Given the description of an element on the screen output the (x, y) to click on. 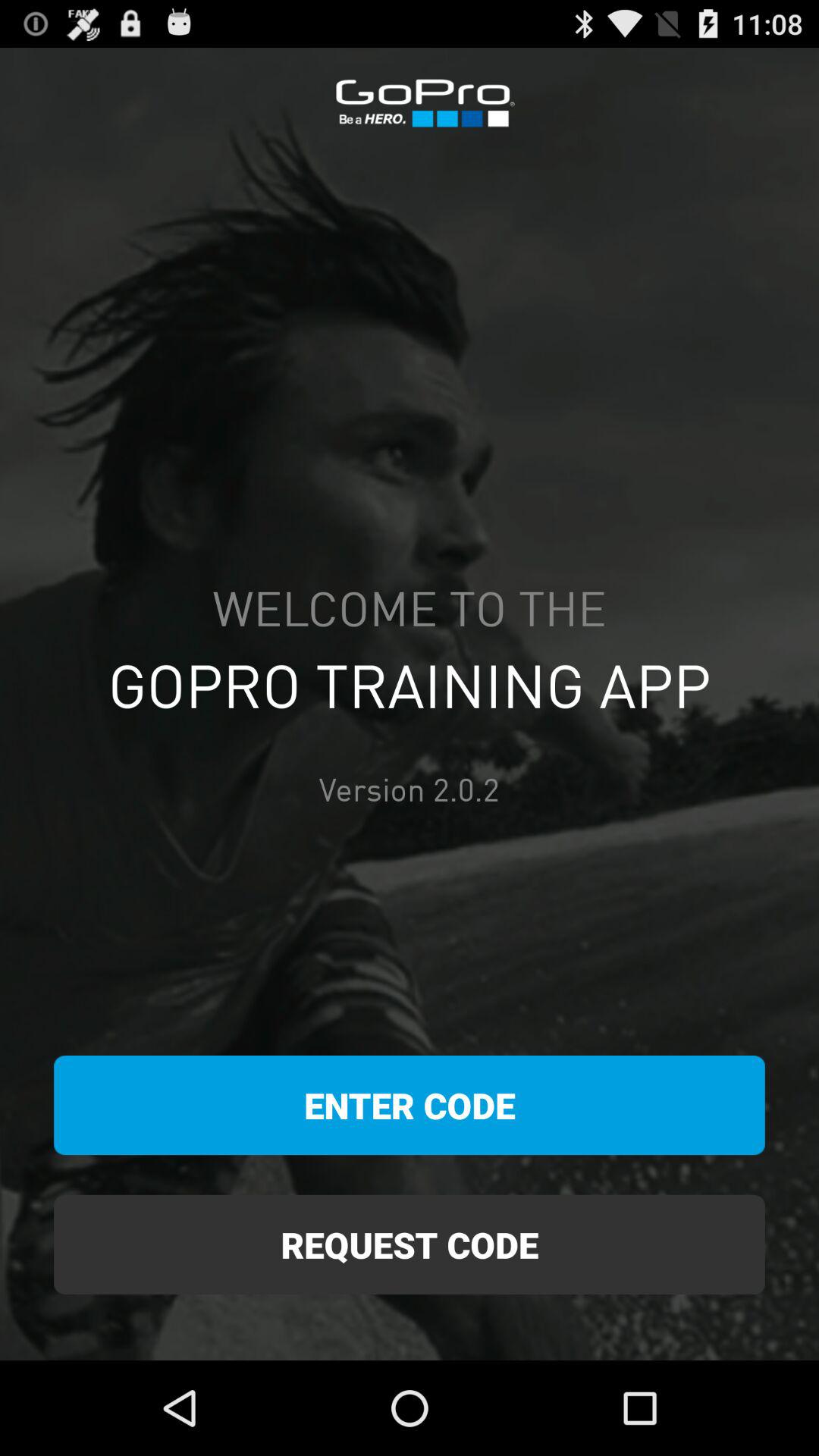
jump to the enter code (409, 1105)
